Given the description of an element on the screen output the (x, y) to click on. 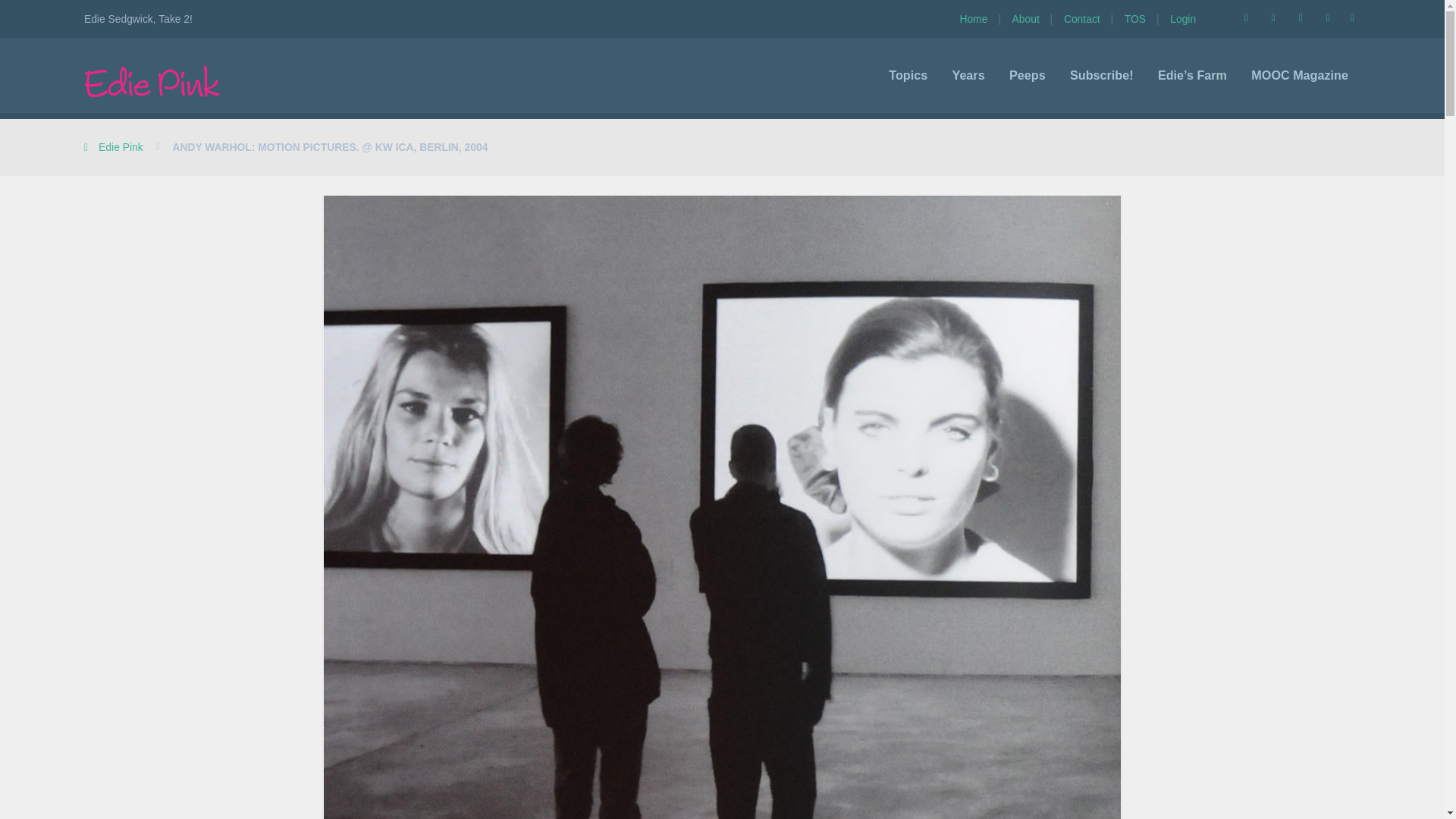
Twitter (1273, 18)
Home (979, 18)
About (1032, 18)
Login (1183, 18)
Facebook (1300, 18)
TOS (1140, 18)
Edie Sedgwick, Take 2! (151, 81)
Contact (1088, 18)
RSS (1245, 18)
Edie Pink (113, 146)
